Given the description of an element on the screen output the (x, y) to click on. 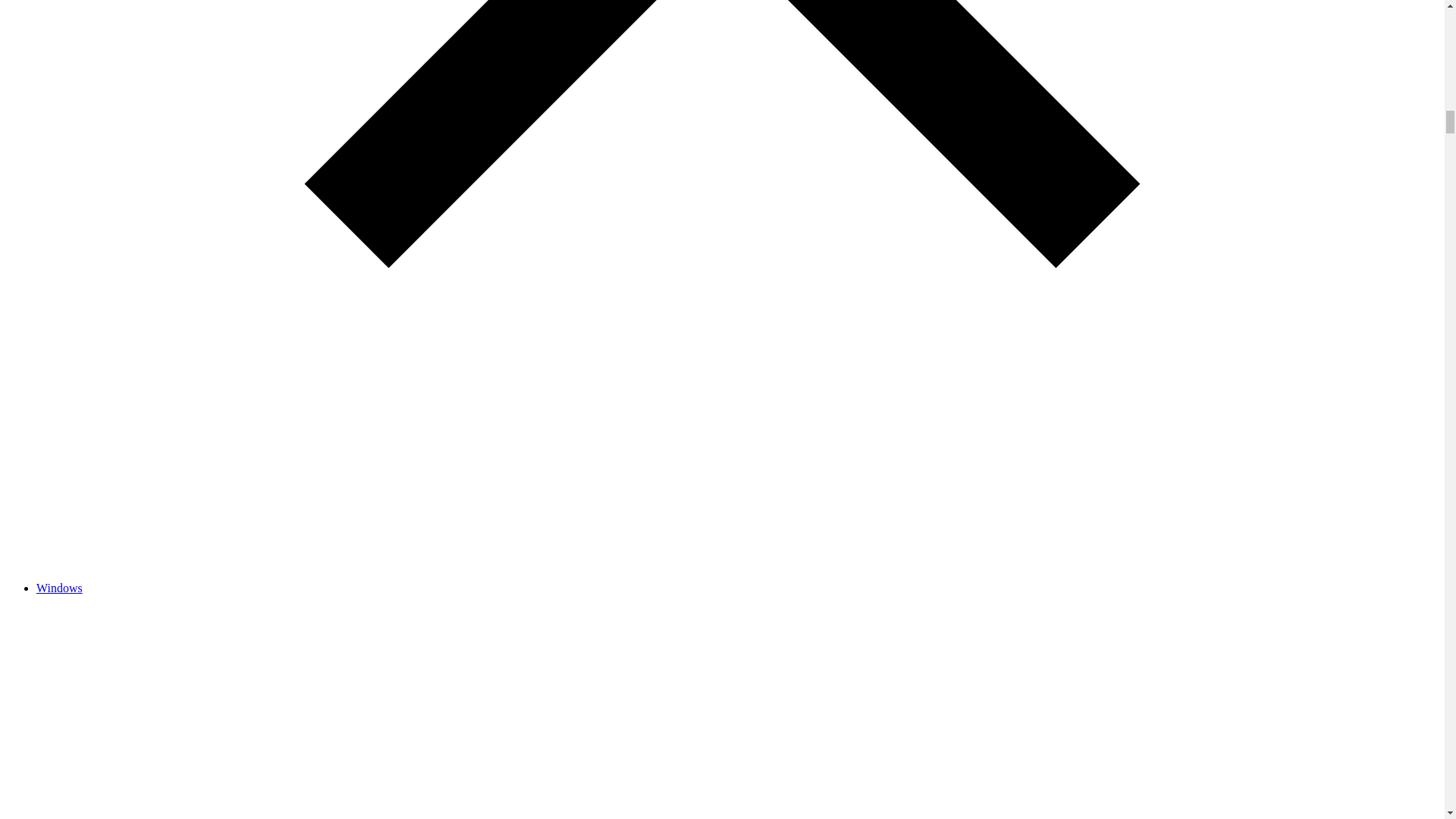
Windows (59, 587)
